Given the description of an element on the screen output the (x, y) to click on. 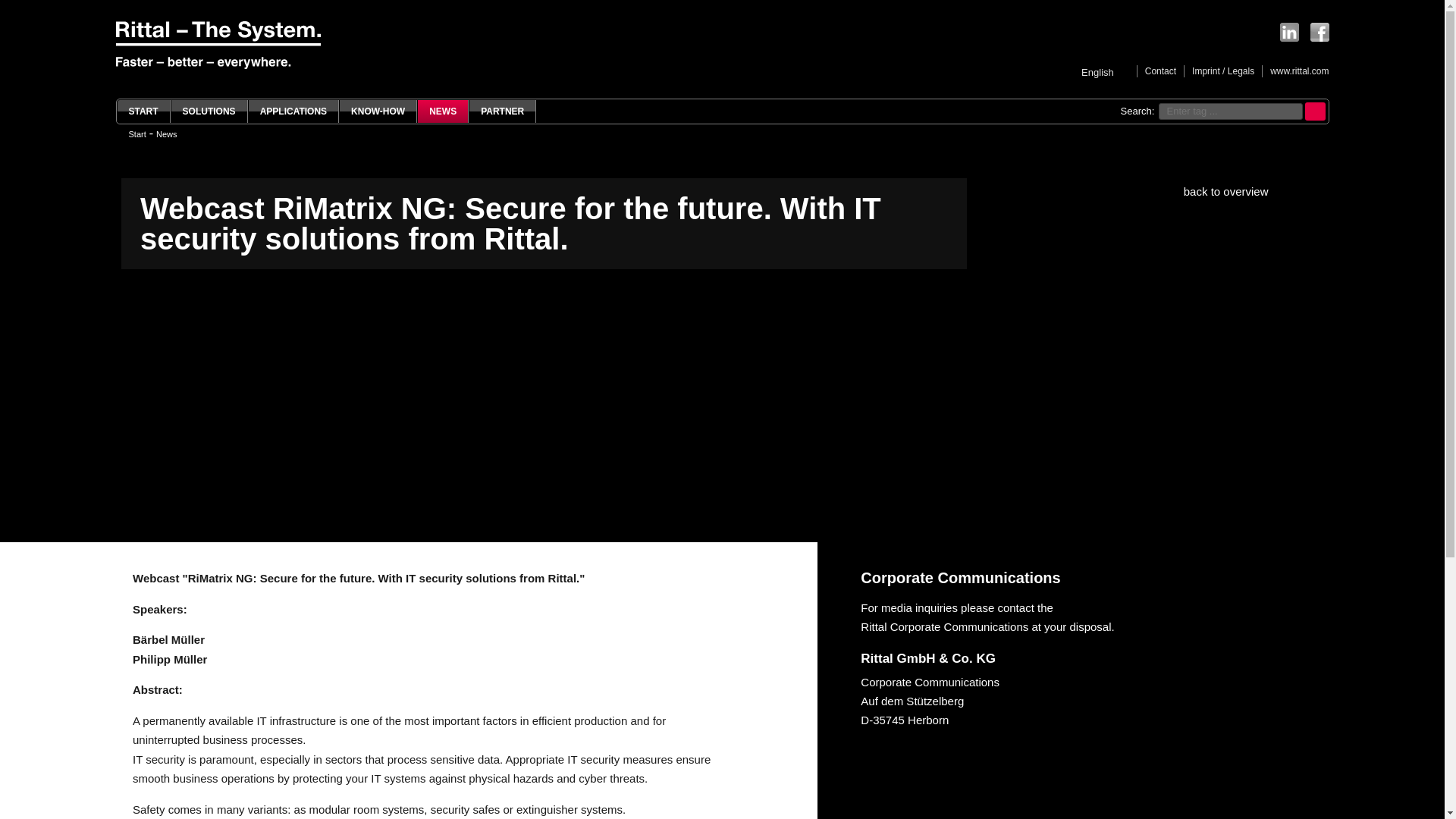
Start (138, 133)
News (166, 133)
PARTNER (501, 110)
APPLICATIONS (293, 110)
SOLUTIONS (209, 110)
www.rittal.com (1294, 70)
Contact (1156, 70)
KNOW-HOW (377, 110)
Start (143, 110)
back to overview (1244, 191)
